Given the description of an element on the screen output the (x, y) to click on. 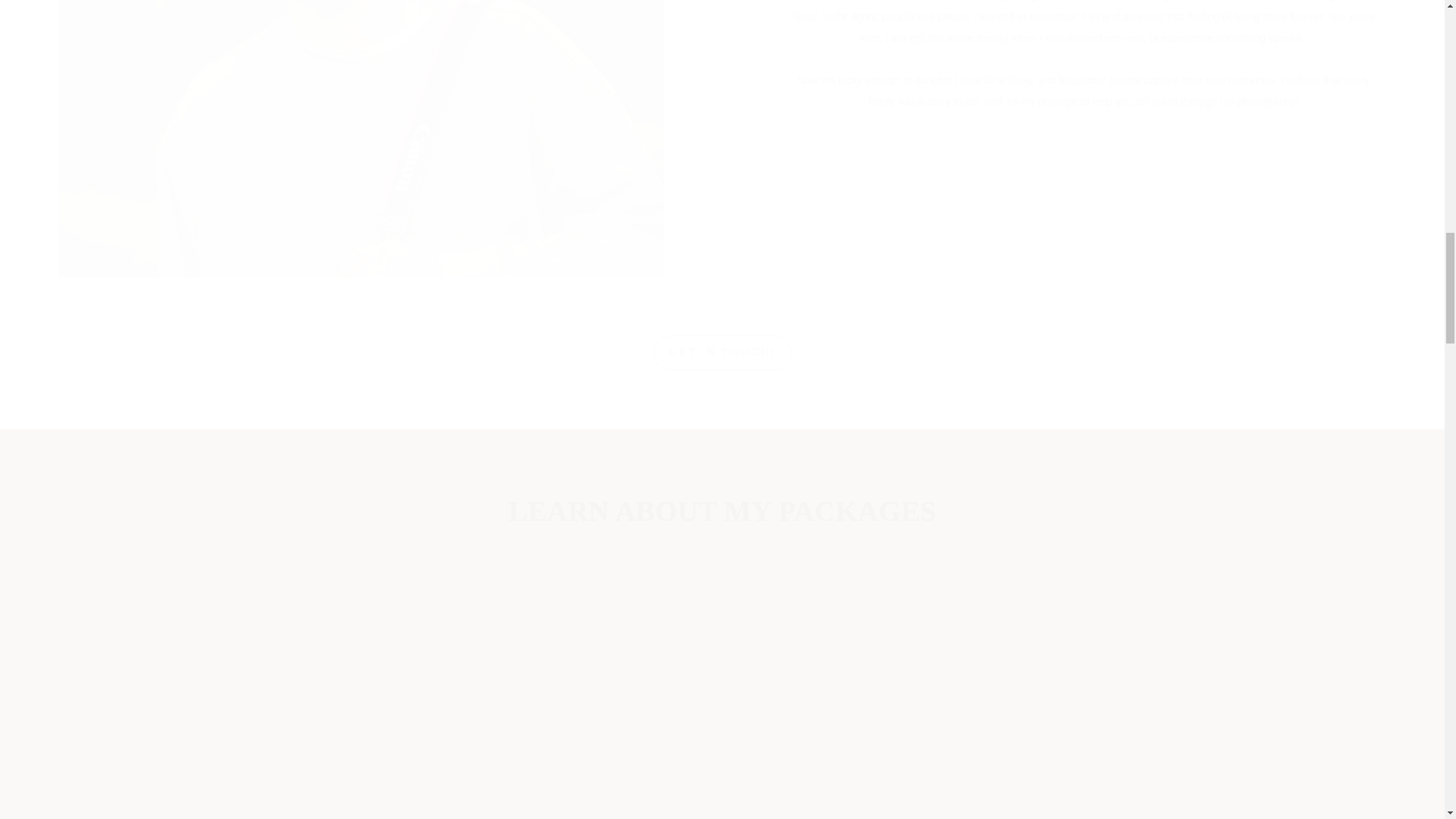
GET IN TOUCH! (722, 352)
